Given the description of an element on the screen output the (x, y) to click on. 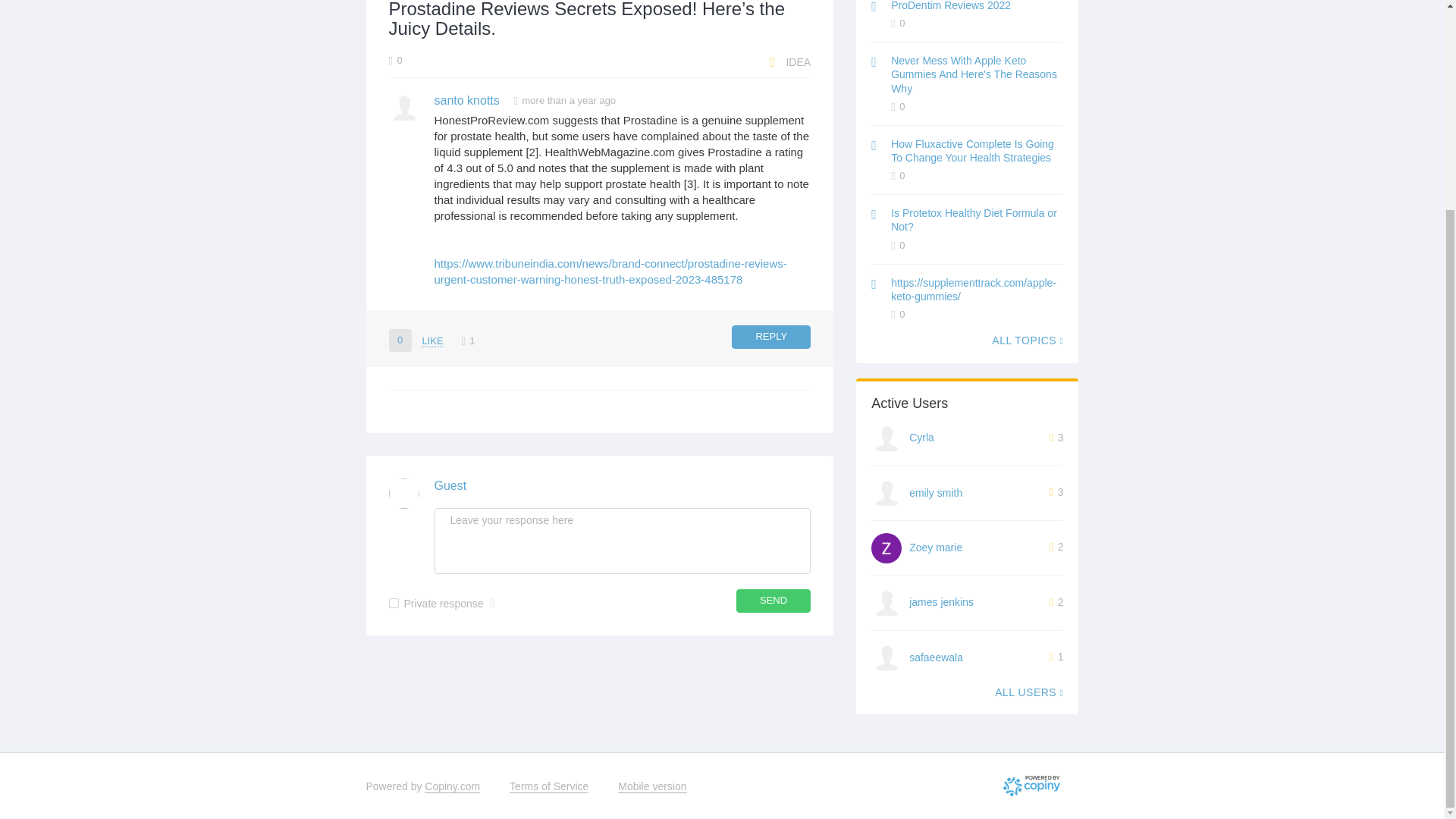
james jenkins (941, 602)
ALL USERS (1028, 691)
Guest (449, 485)
REPLY (771, 336)
santo knotts (466, 100)
ProDentim Reviews 2022 (950, 5)
ALL TOPICS (1026, 339)
emily smith (935, 492)
